Given the description of an element on the screen output the (x, y) to click on. 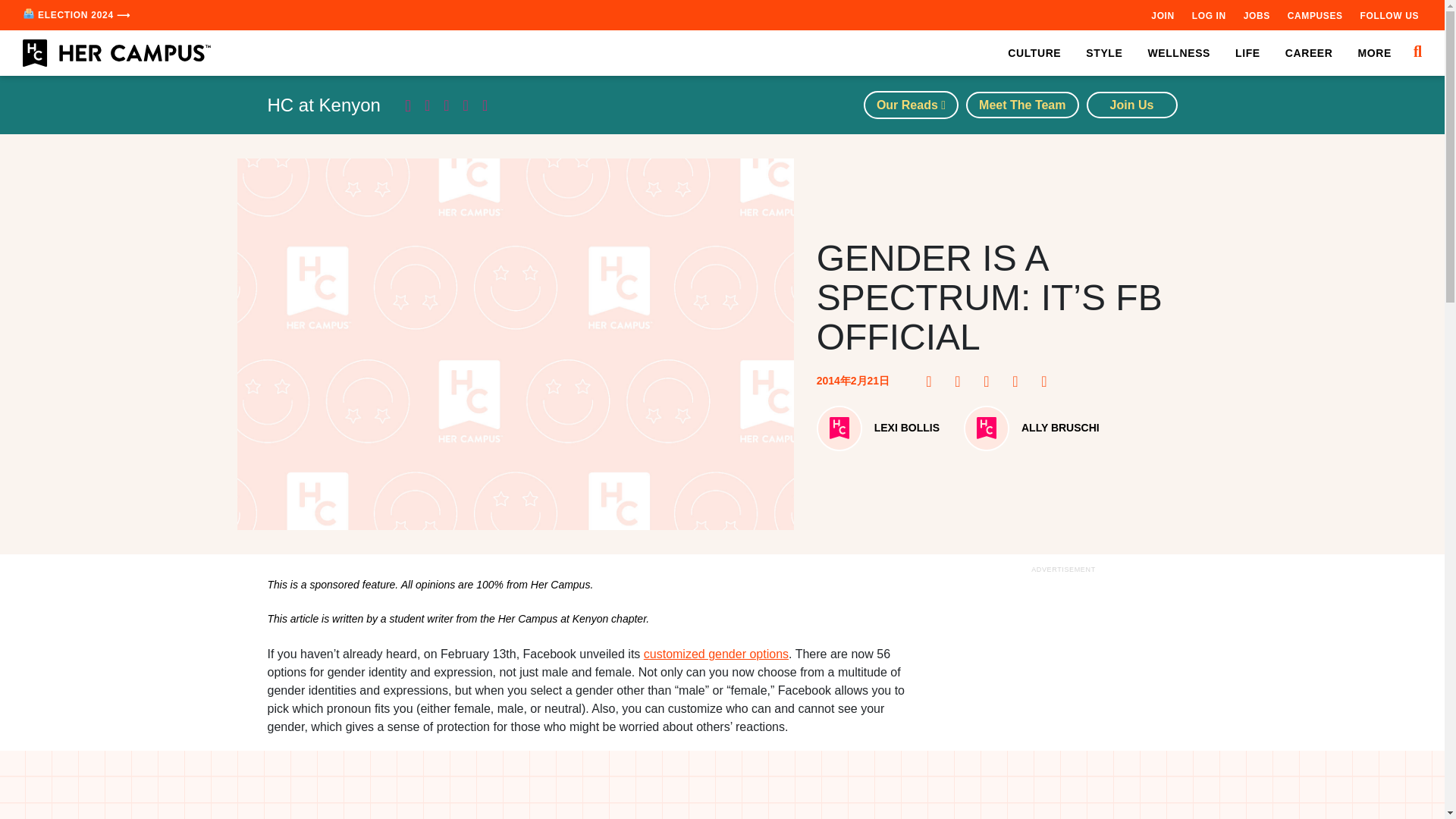
JOBS (1256, 15)
Email (1049, 381)
Pinterest (962, 381)
LinkedIn (1019, 381)
Facebook (933, 381)
LOG IN (1208, 15)
CAMPUSES (1314, 15)
JOIN (1162, 15)
Twitter (991, 381)
